Given the description of an element on the screen output the (x, y) to click on. 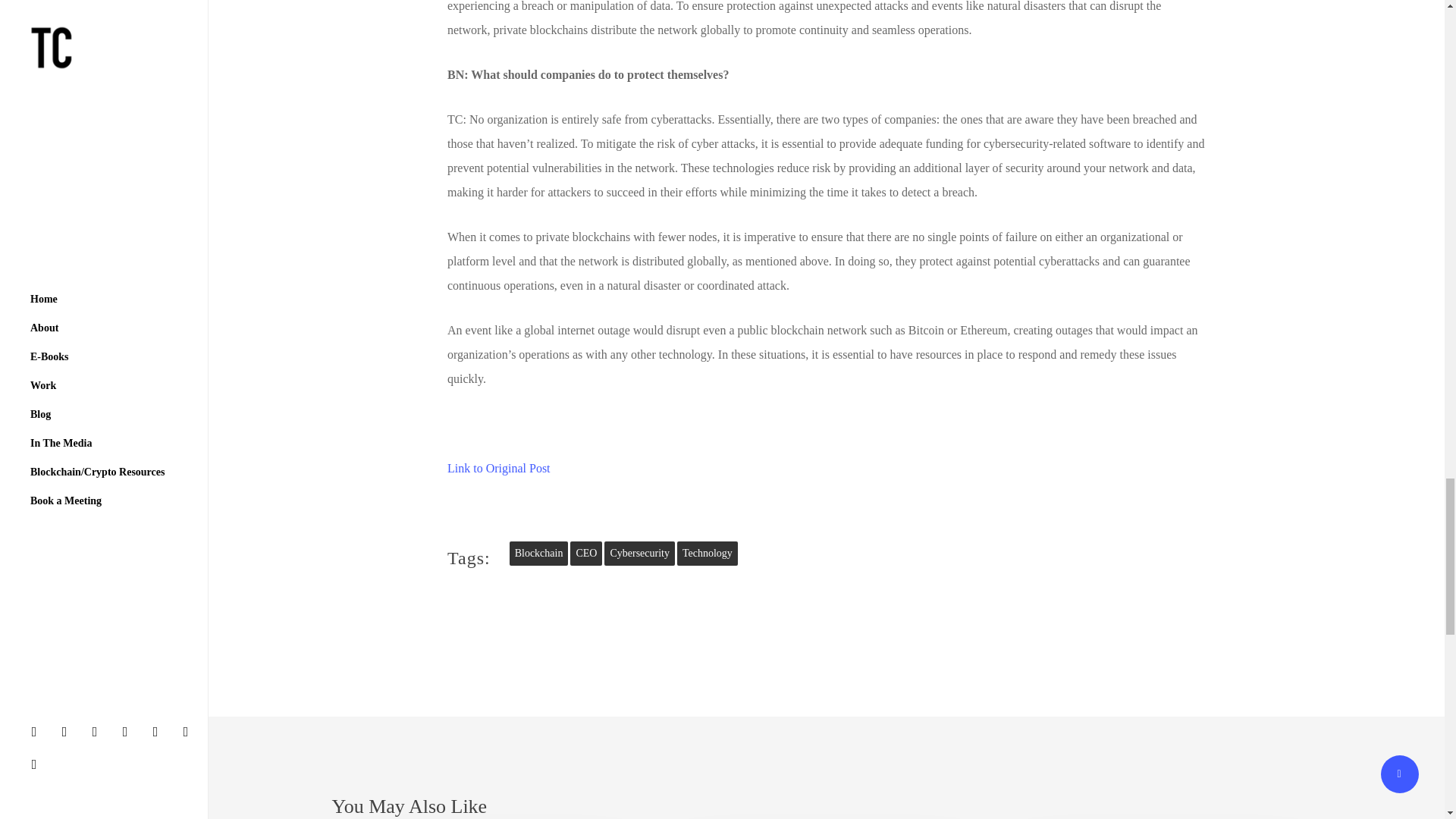
Cybersecurity (639, 553)
CEO (586, 553)
Technology (707, 553)
Link to Original Post (498, 468)
Blockchain (539, 553)
